Given the description of an element on the screen output the (x, y) to click on. 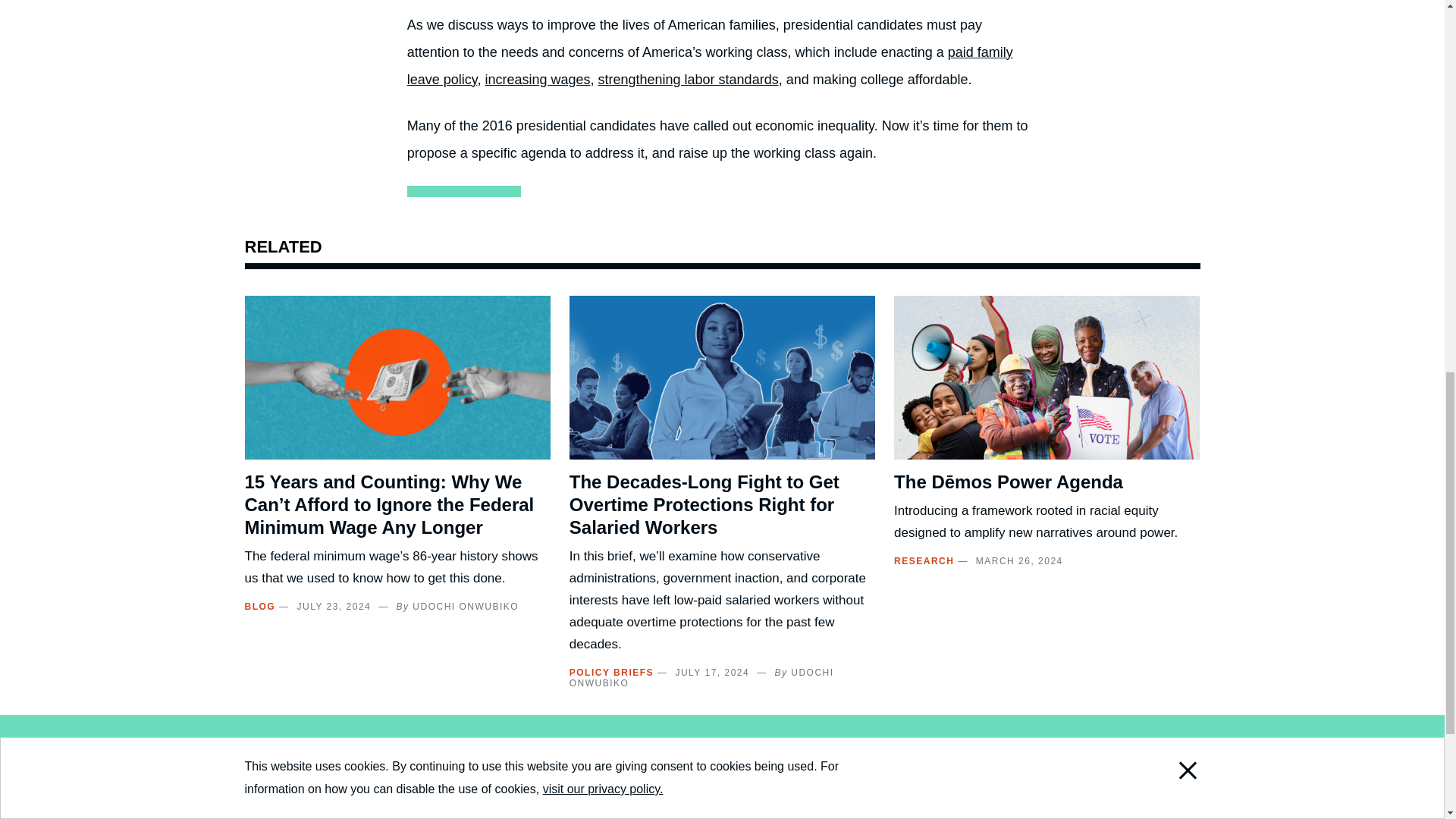
About (423, 815)
Contact Us (763, 815)
paid family leave policy (710, 65)
increasing wages (536, 79)
Twitter (1099, 813)
Home (282, 818)
Facebook (1068, 813)
About Demos (423, 815)
strengthening labor standards (686, 79)
Support Us (601, 815)
Close Notification (1168, 18)
